Given the description of an element on the screen output the (x, y) to click on. 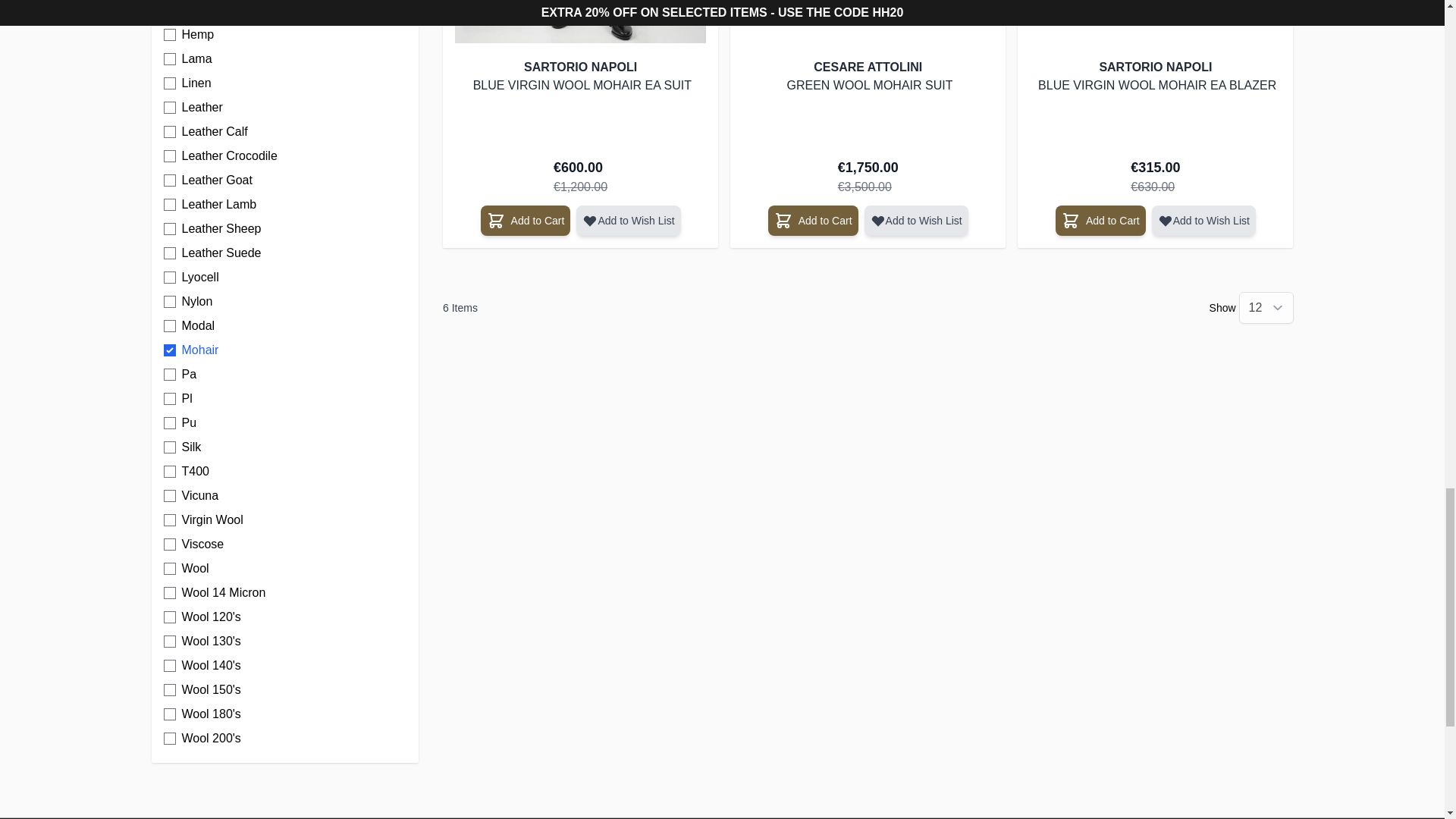
1805 (169, 34)
1778 (169, 155)
1798 (169, 10)
1780 (169, 253)
1796 (169, 59)
1808 (169, 180)
1789 (169, 204)
1765 (169, 82)
1786 (169, 132)
1777 (169, 107)
